Given the description of an element on the screen output the (x, y) to click on. 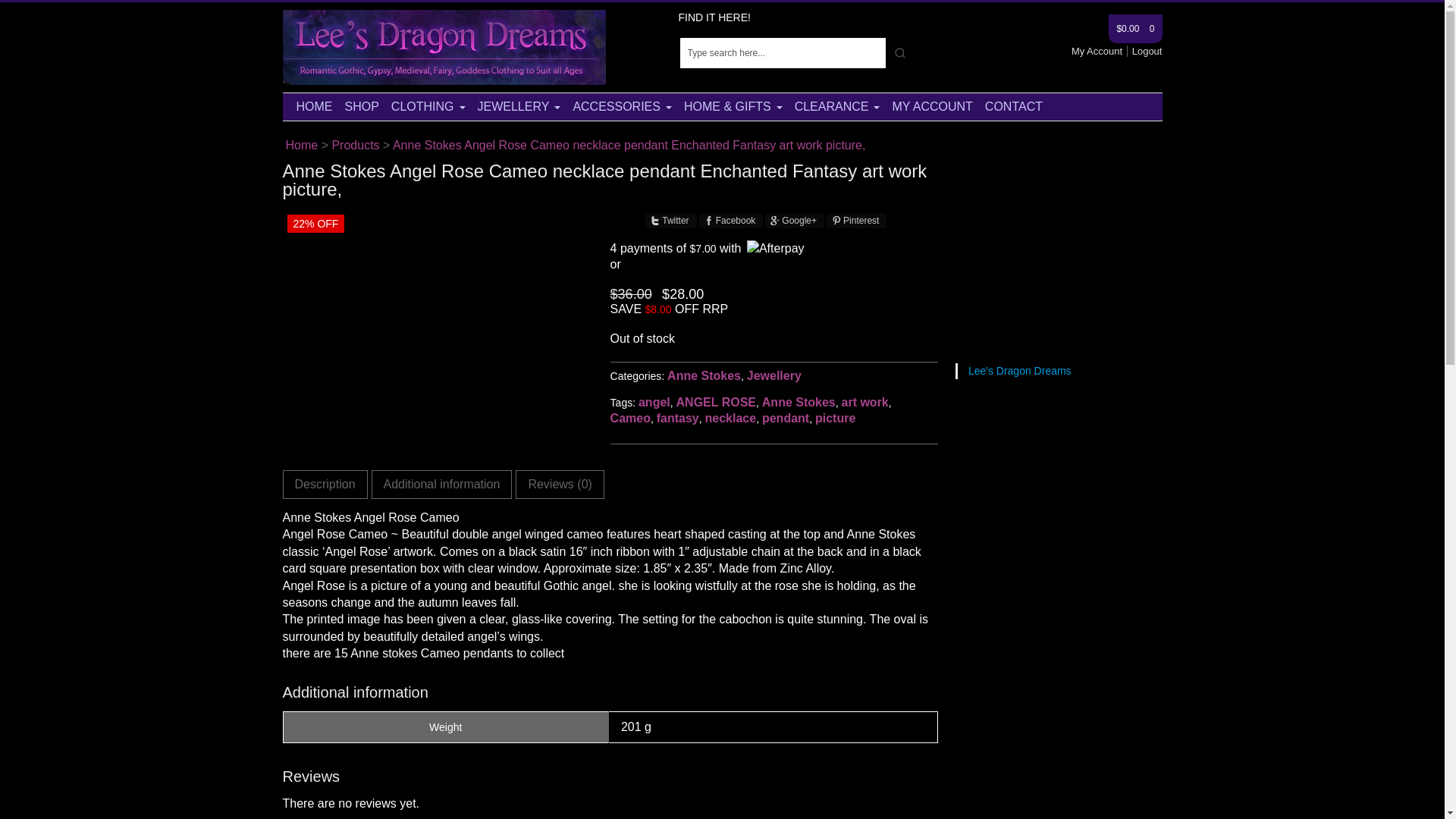
JEWELLERY (519, 106)
Type search here... (782, 52)
Logout (1146, 50)
Lee's Dragon Dreams (301, 144)
Logout (1146, 50)
View your shopping cart (1134, 28)
My Account (1098, 50)
HOME (313, 106)
CLOTHING (428, 106)
My Account (1098, 50)
